Given the description of an element on the screen output the (x, y) to click on. 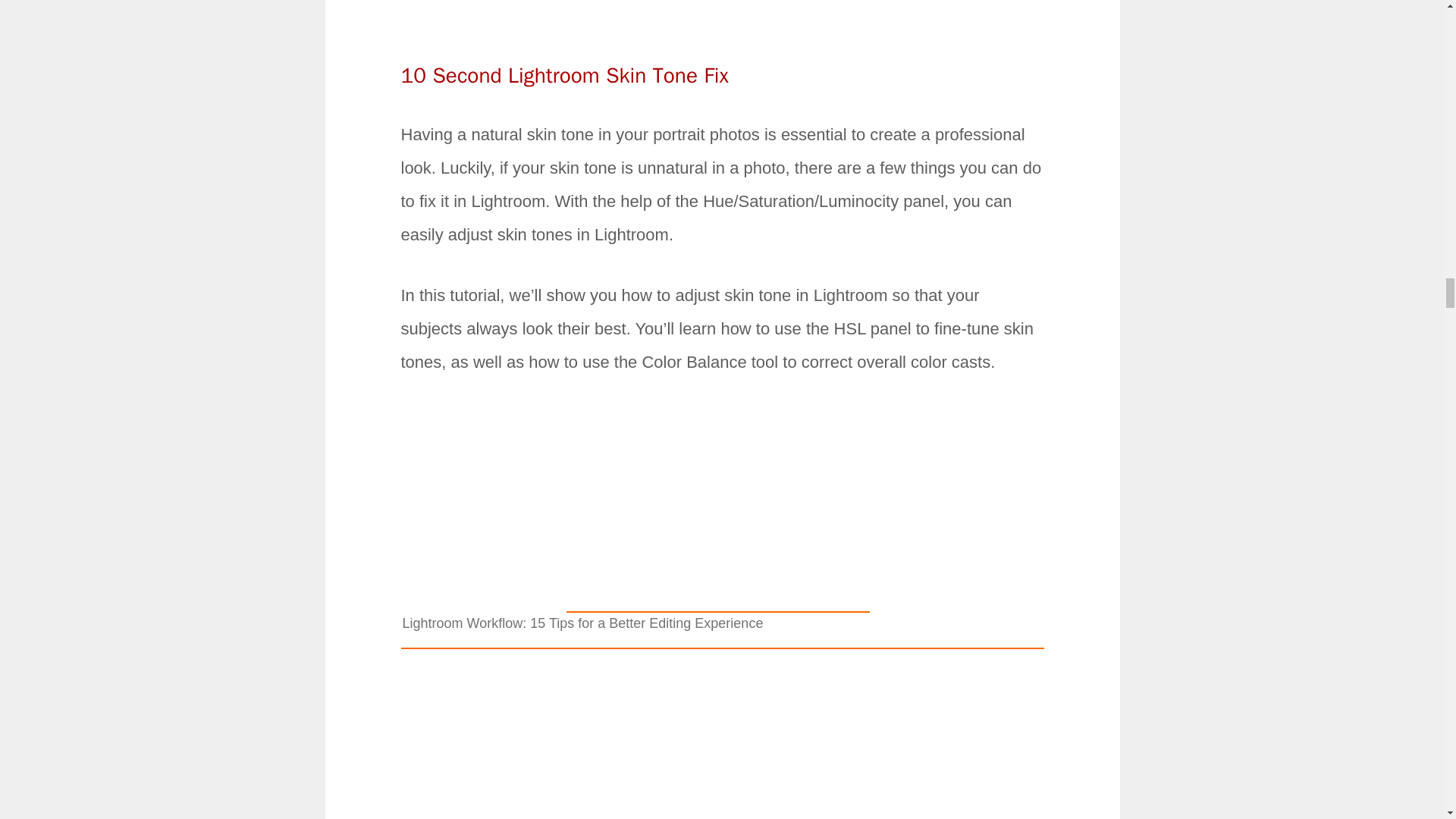
Lightroom Workflow: 15 Tips for a Better Editing Experience (717, 602)
